Given the description of an element on the screen output the (x, y) to click on. 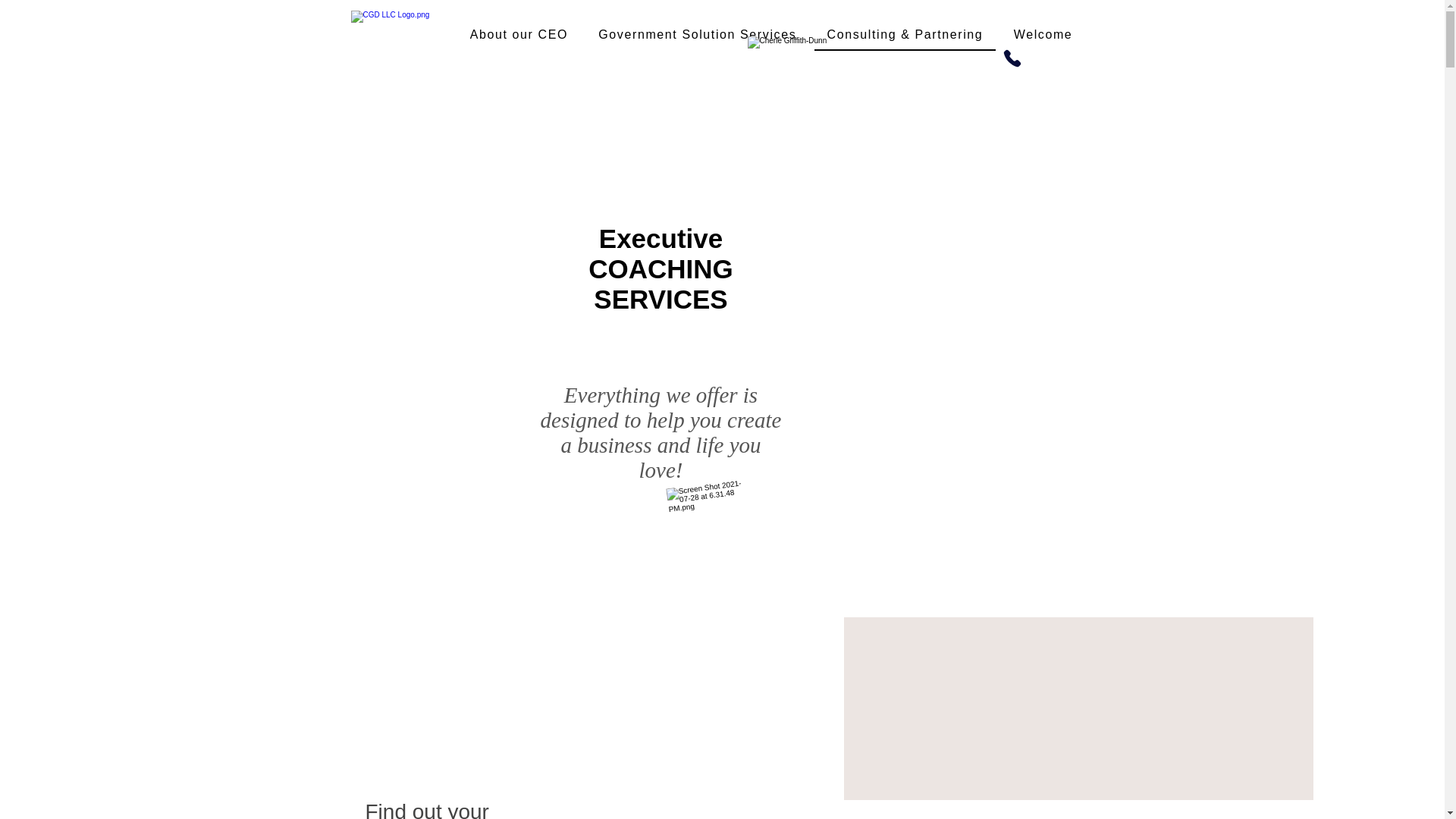
Welcome (1042, 34)
Government Solution Services (697, 34)
About our CEO (519, 34)
